Given the description of an element on the screen output the (x, y) to click on. 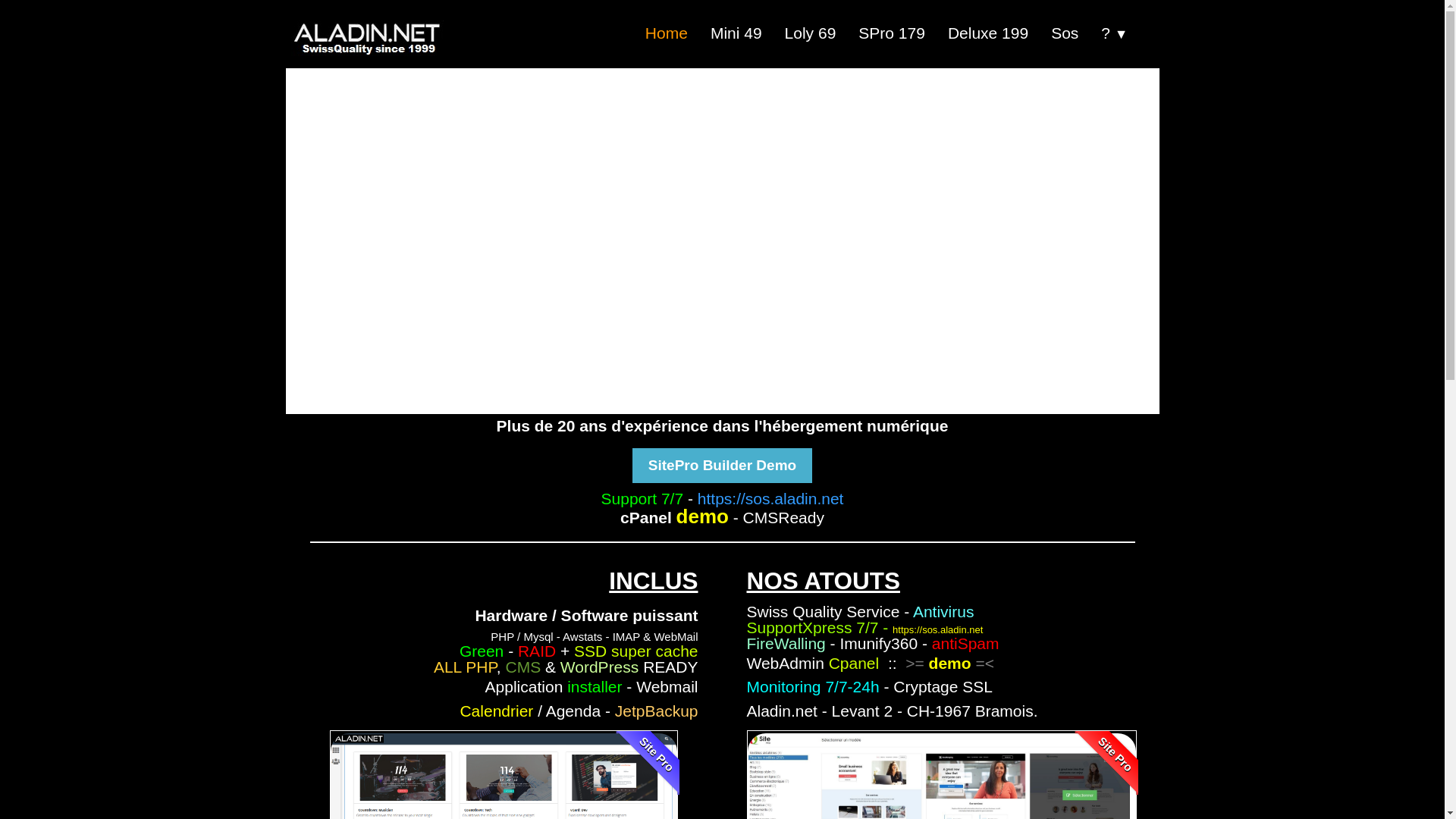
Loly 69 Element type: text (810, 33)
Sos Element type: text (1064, 33)
SPro 179 Element type: text (891, 33)
demo Element type: text (702, 516)
Deluxe 199 Element type: text (987, 33)
SitePro Builder Demo Element type: text (722, 465)
=< Element type: text (984, 662)
Mini 49 Element type: text (736, 33)
https://sos.aladin.net Element type: text (937, 629)
>= Element type: text (914, 662)
https://sos.aladin.net Element type: text (770, 498)
Home Element type: text (666, 33)
demo Element type: text (949, 662)
